Given the description of an element on the screen output the (x, y) to click on. 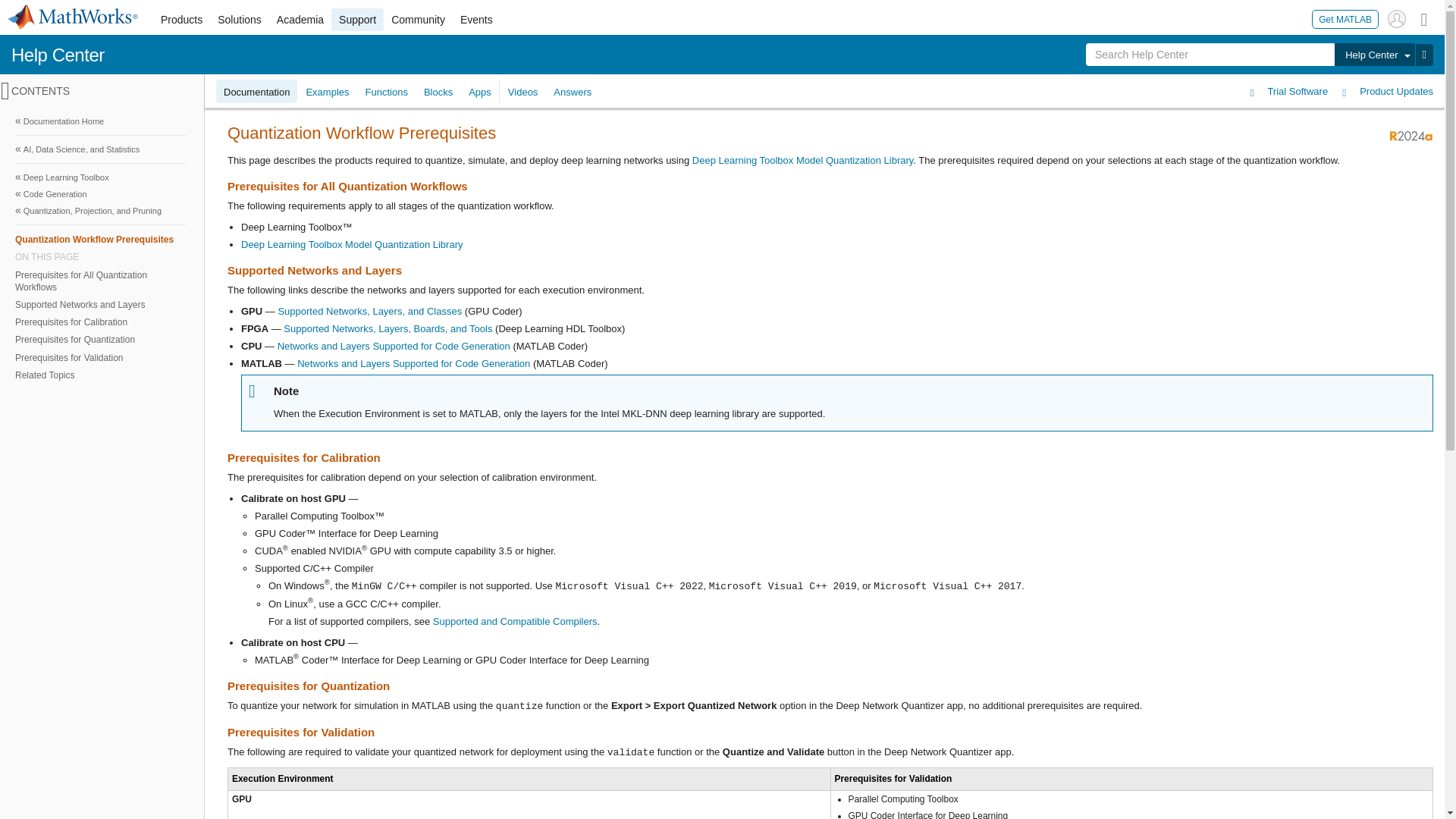
Solutions (239, 19)
Sign In to Your MathWorks Account (1396, 18)
Matrix Menu (1423, 18)
Support (357, 19)
Quantization Workflow Prerequisites (100, 239)
Community (418, 19)
ON THIS PAGE (100, 256)
Products (180, 19)
Events (476, 19)
Academia (300, 19)
Get MATLAB (1344, 18)
